Given the description of an element on the screen output the (x, y) to click on. 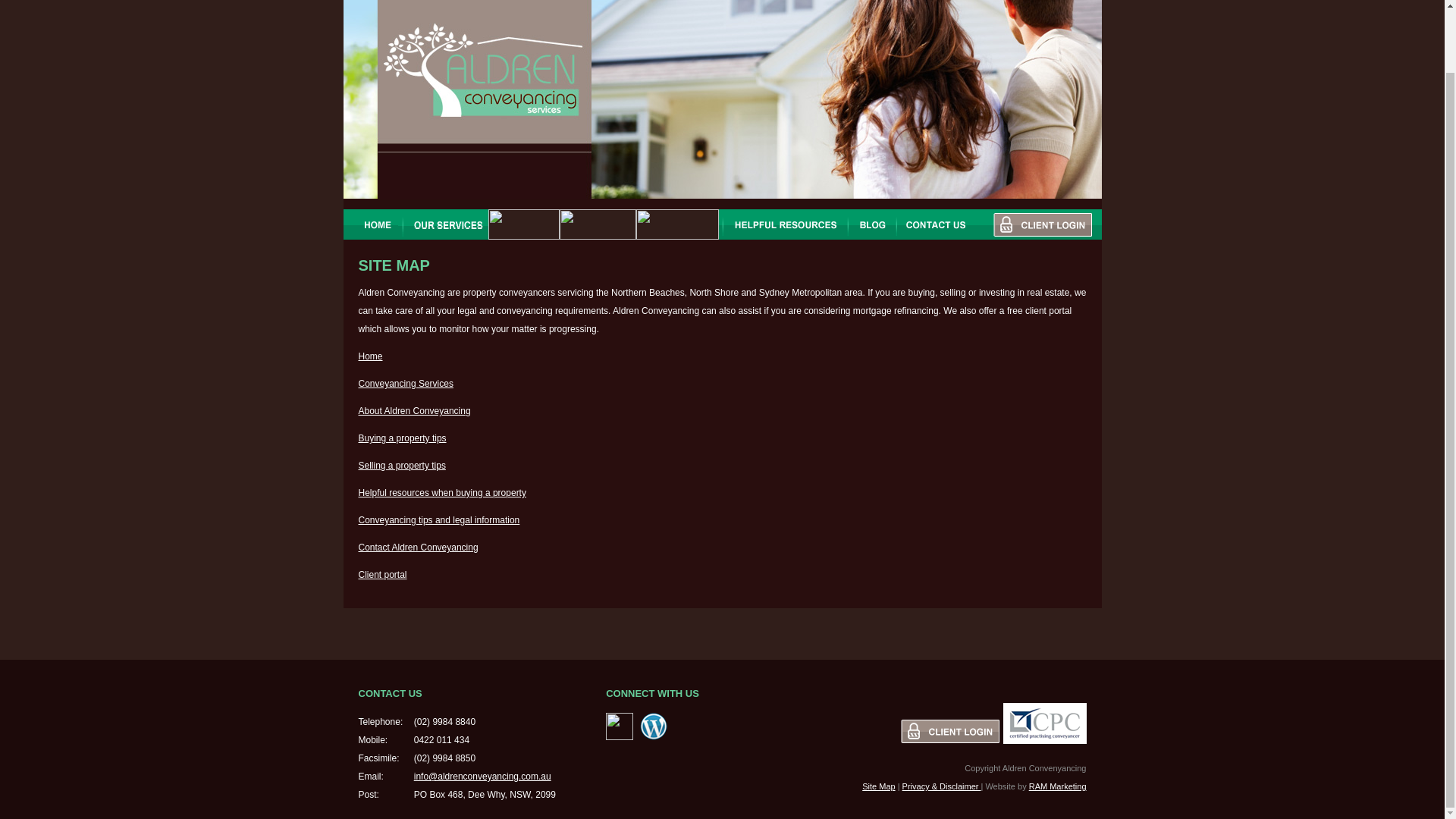
Helpful resources when buying a property (441, 492)
About Aldren Conveyancing (414, 410)
Client portal (382, 574)
Conveyancing tips and legal information (438, 520)
Buying a property tips (401, 438)
Conveyancing Services (405, 383)
Contact Aldren Conveyancing (417, 547)
RAM Marketing (1057, 786)
Site Map (878, 786)
Selling a property tips (401, 465)
